Given the description of an element on the screen output the (x, y) to click on. 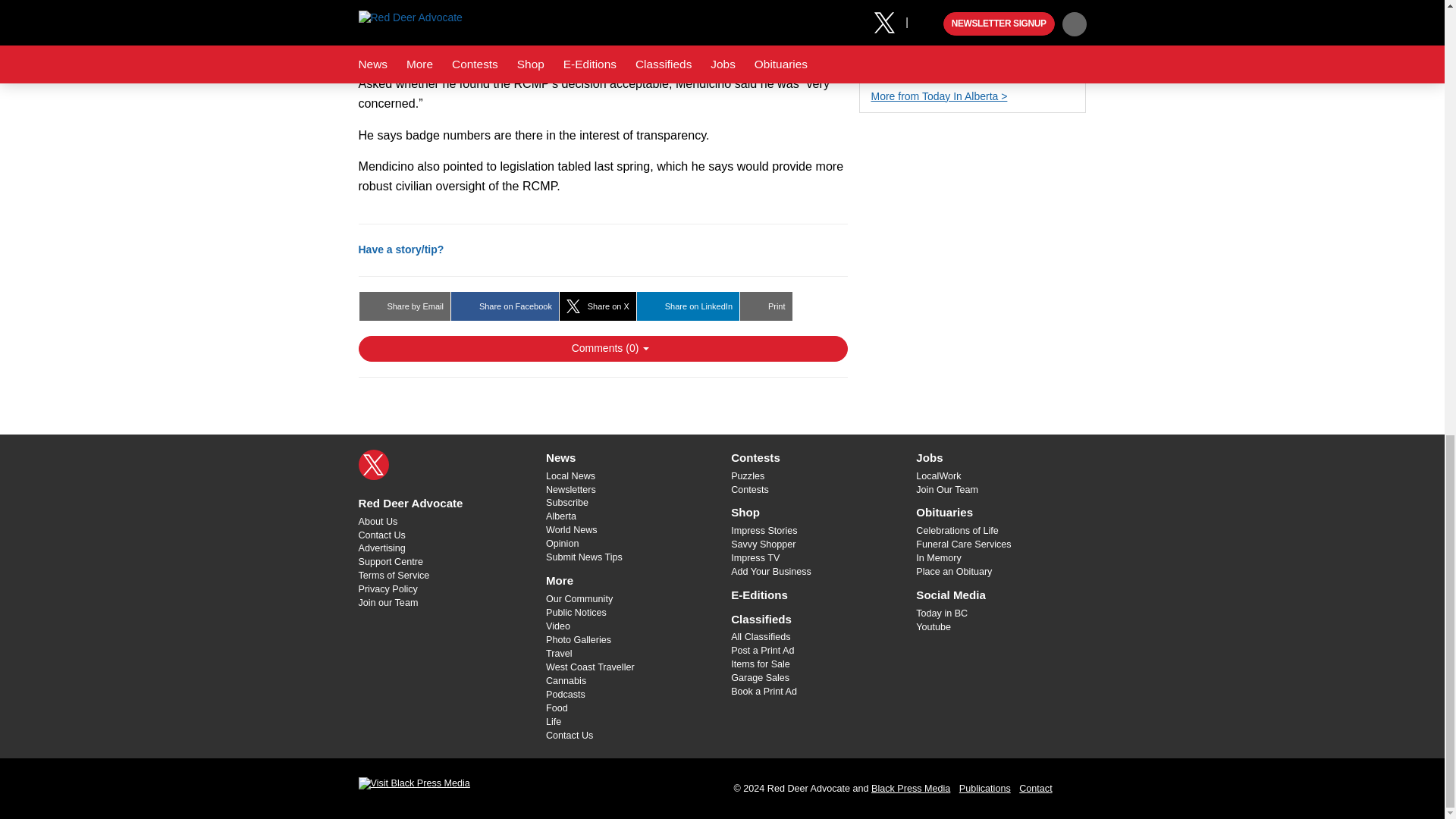
Has a gallery (876, 68)
X (373, 464)
Show Comments (602, 348)
